Given the description of an element on the screen output the (x, y) to click on. 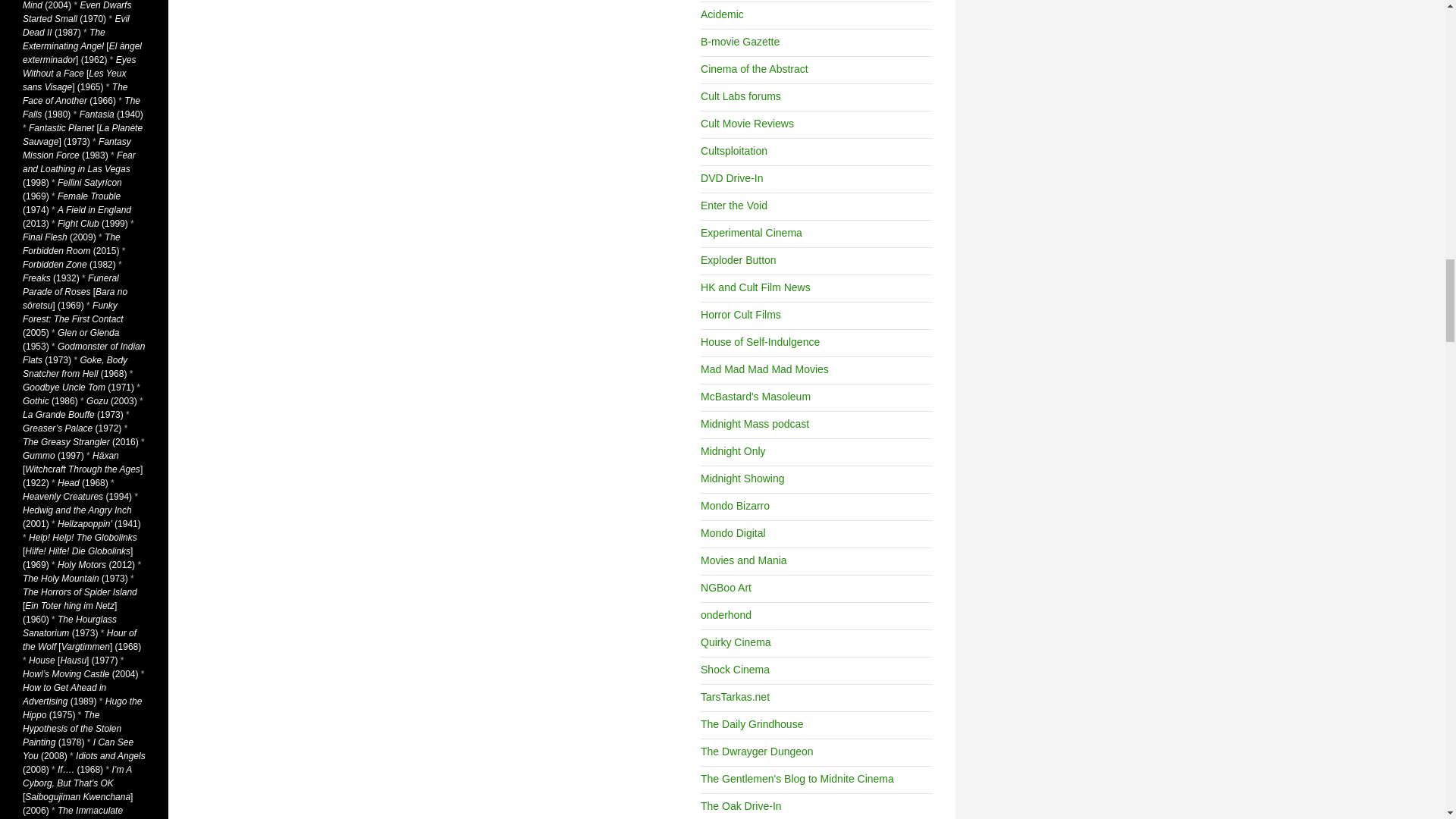
The latest cult movie DVD reviews (731, 177)
100 of the best B-movie blogs out there (739, 41)
News and resources on experimental films (751, 232)
